Given the description of an element on the screen output the (x, y) to click on. 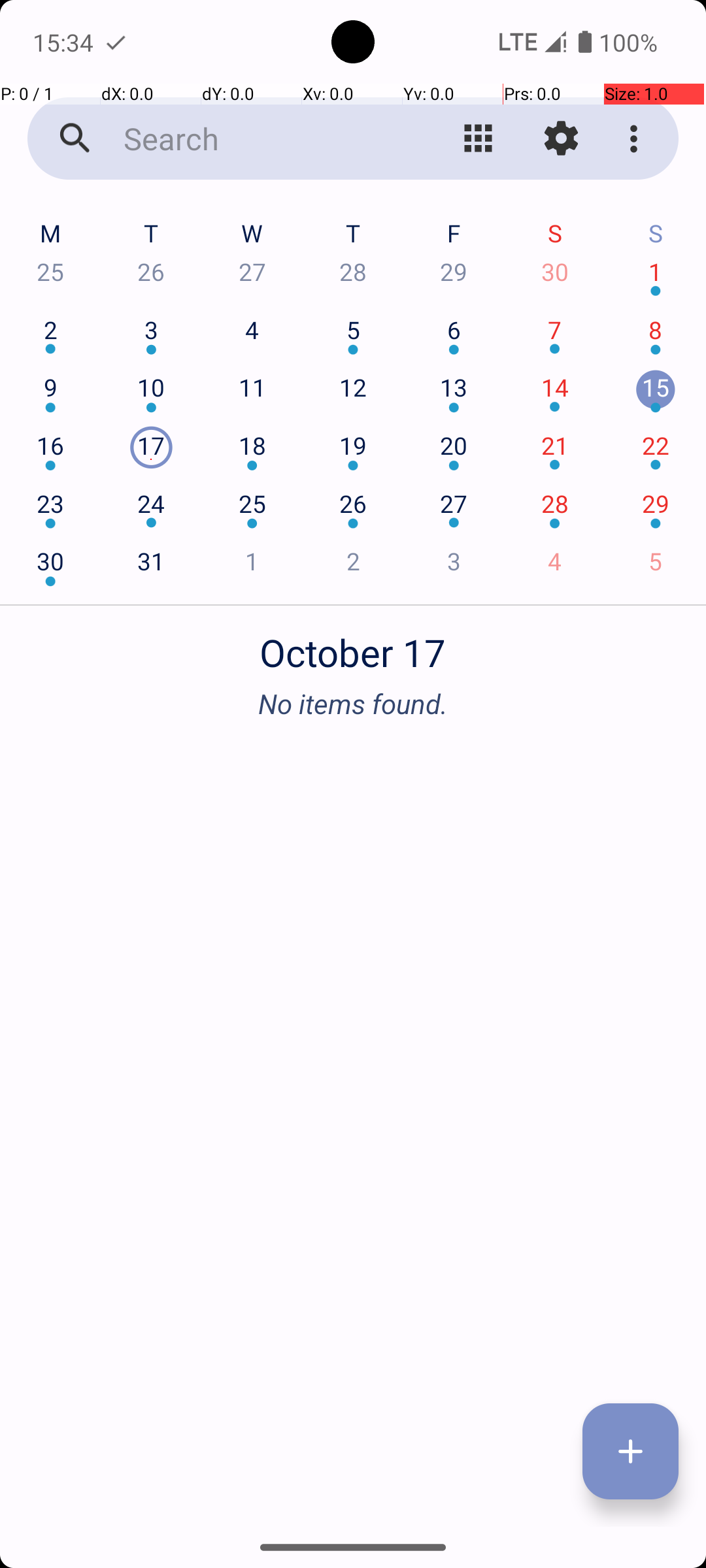
October 17 Element type: android.widget.TextView (352, 644)
